Given the description of an element on the screen output the (x, y) to click on. 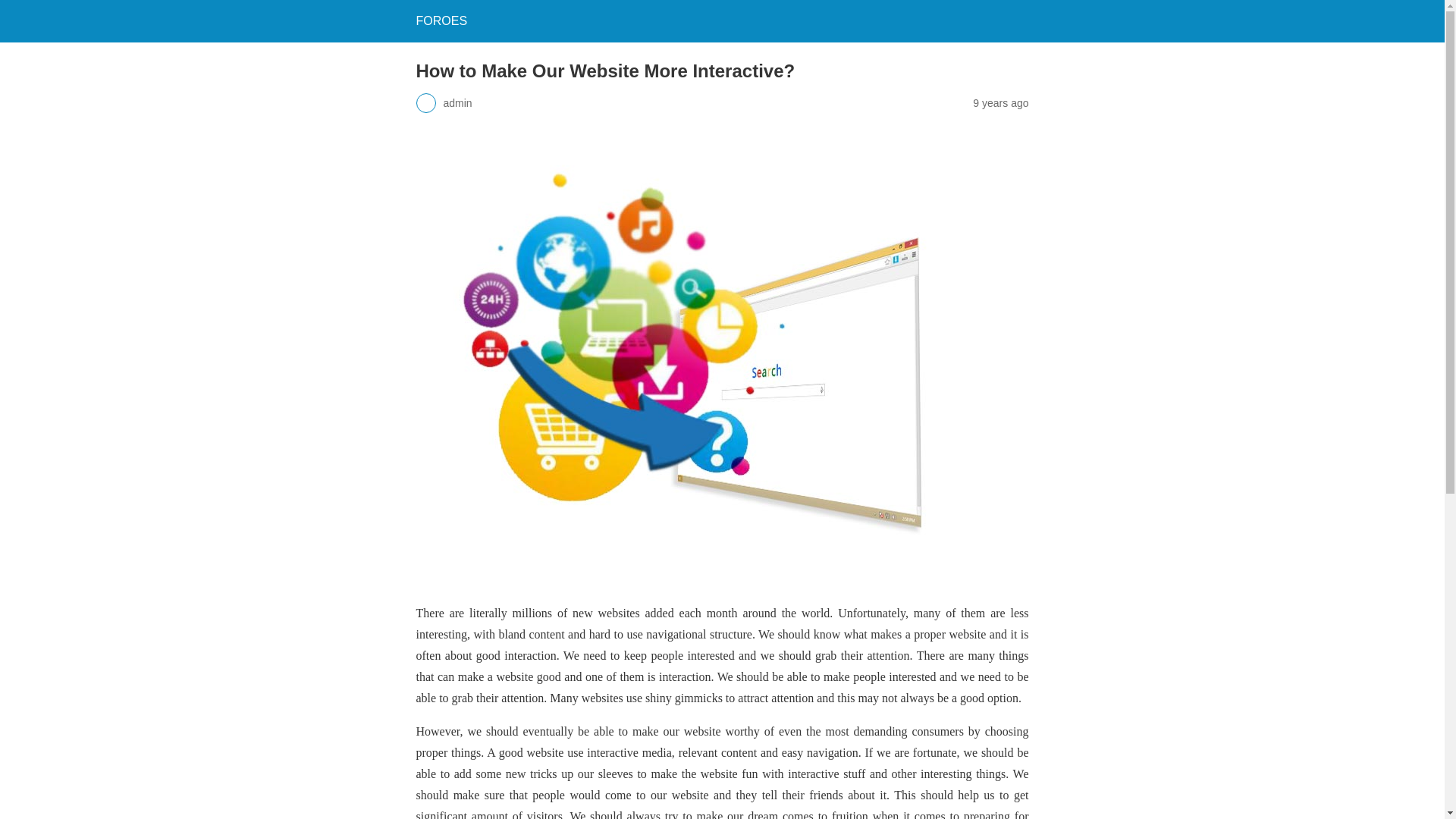
FOROES (440, 20)
